Given the description of an element on the screen output the (x, y) to click on. 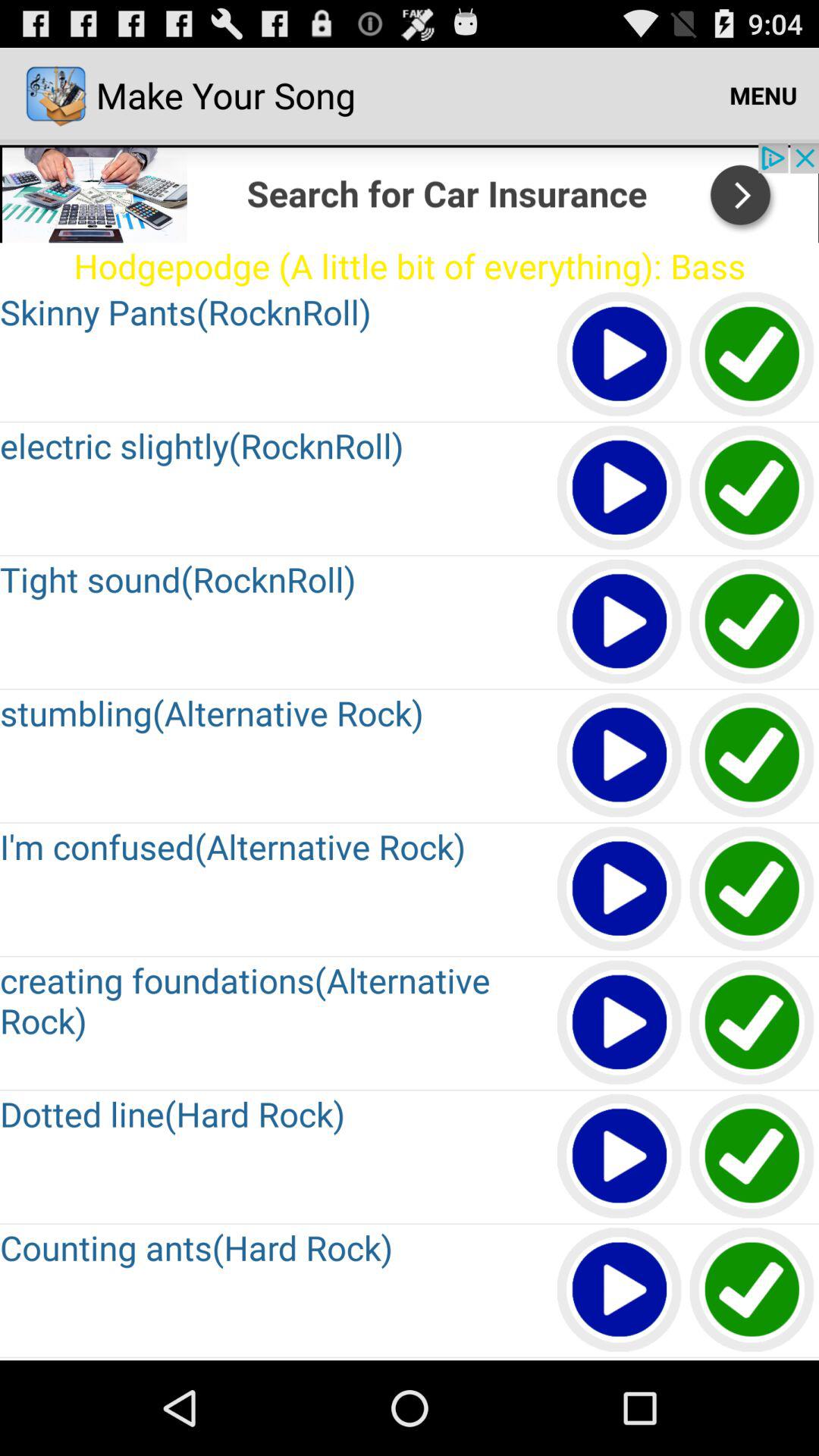
select the song (752, 488)
